Given the description of an element on the screen output the (x, y) to click on. 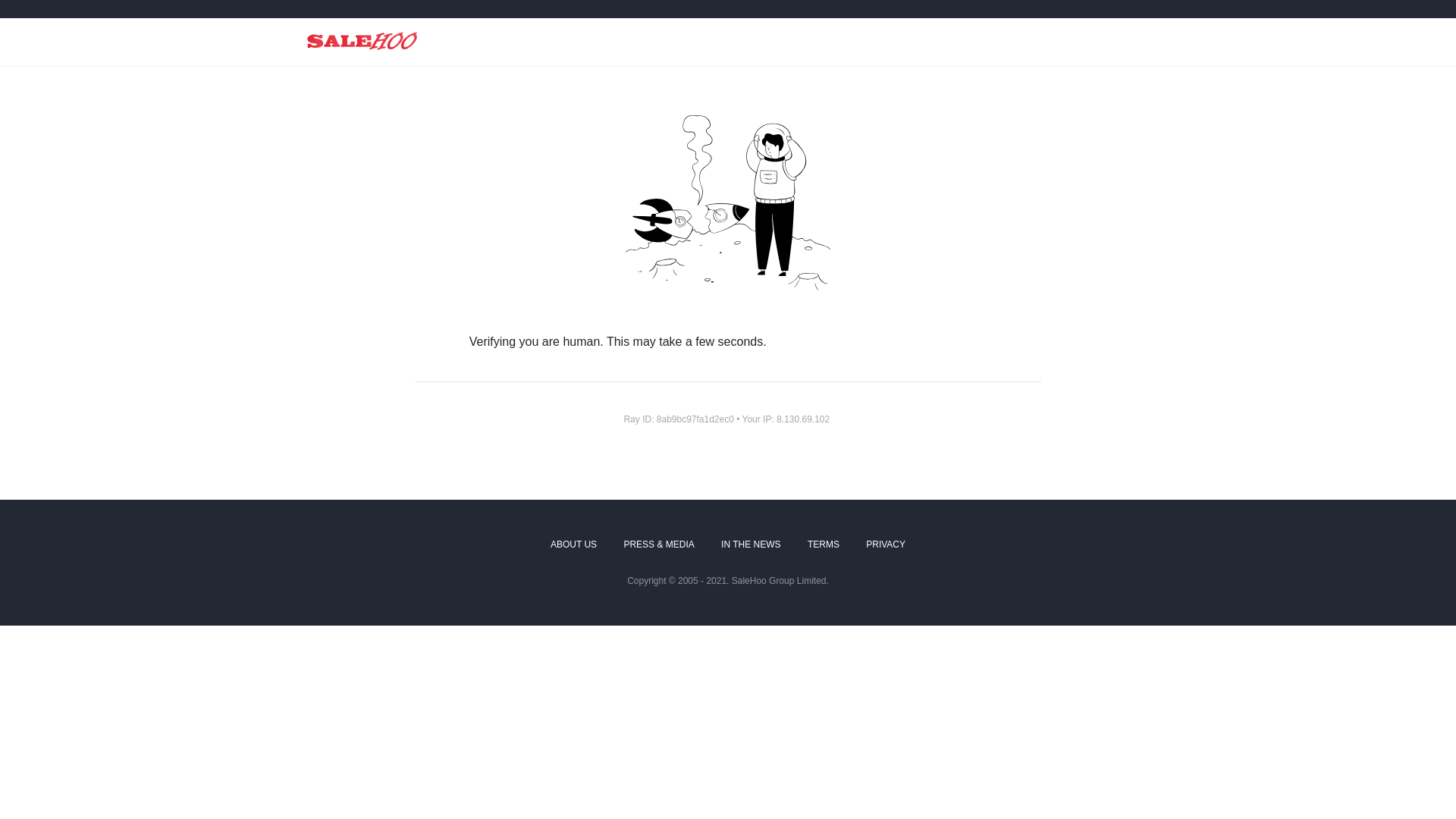
IN THE NEWS (750, 545)
ABOUT US (573, 545)
TERMS (824, 545)
PRIVACY (885, 545)
